Given the description of an element on the screen output the (x, y) to click on. 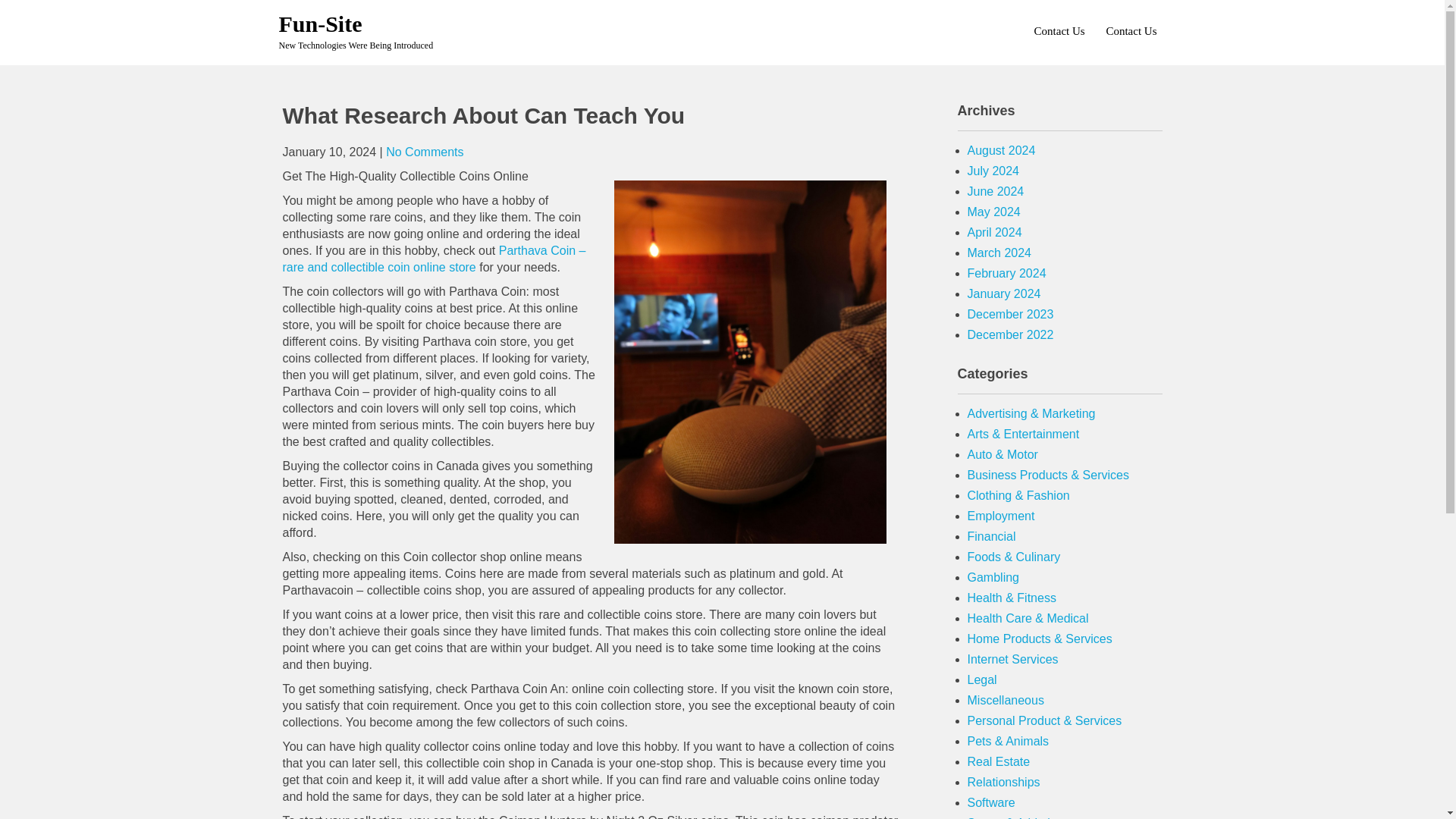
January 2024 (1004, 293)
June 2024 (996, 191)
December 2023 (1011, 314)
Relationships (1004, 781)
Internet Services (1013, 658)
Miscellaneous (1005, 699)
April 2024 (995, 232)
Real Estate (999, 761)
Legal (982, 679)
May 2024 (994, 211)
